Given the description of an element on the screen output the (x, y) to click on. 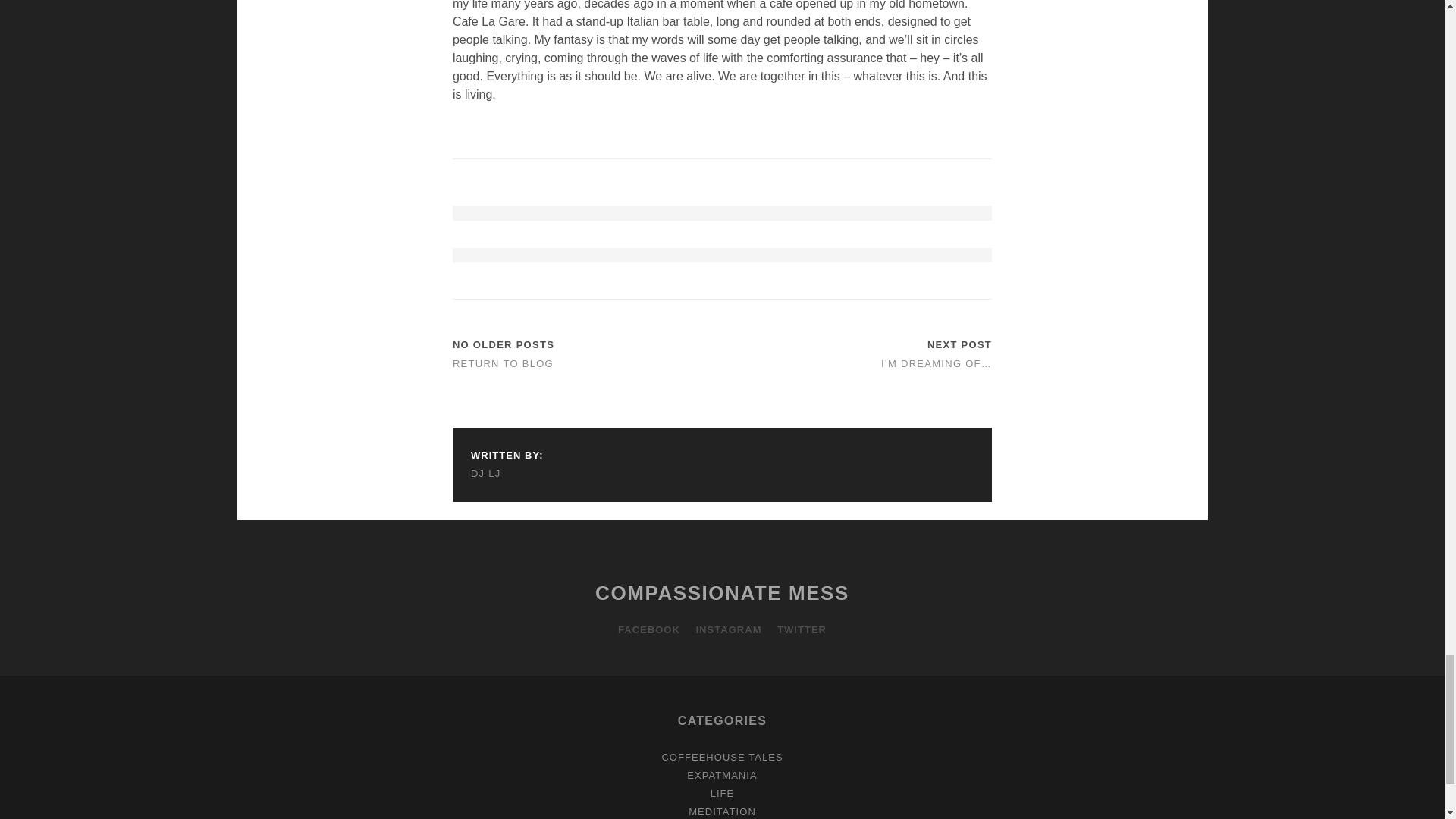
COMPASSIONATE MESS (721, 592)
RETURN TO BLOG (502, 363)
Posts by DJ LJ (506, 474)
FACEBOOK (648, 629)
DJ LJ (506, 474)
EXPATMANIA (722, 775)
COFFEEHOUSE TALES (722, 756)
INSTAGRAM (728, 629)
TWITTER (802, 629)
LIFE (722, 793)
